Given the description of an element on the screen output the (x, y) to click on. 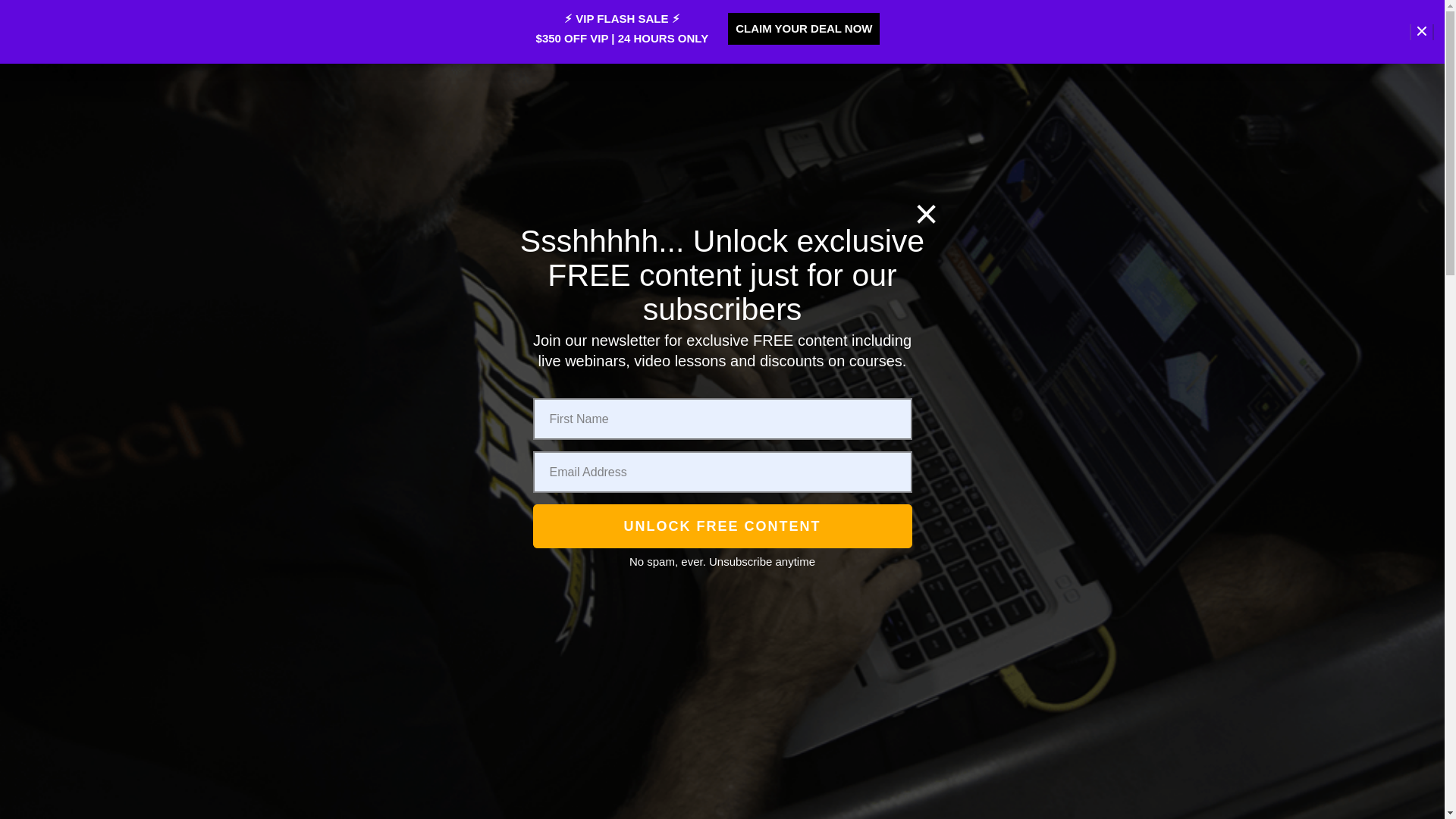
Click here to view Zorro (354, 703)
FORUM (963, 162)
MEMBER LOGIN (527, 162)
ARTICLES (1110, 163)
WEBINARS (889, 81)
ABOUT US (893, 162)
STARTER PACKAGES (746, 81)
Click here to view Zorro (647, 162)
HIGH PERFORMANCE ACADEMY (355, 771)
FREE LESSONS (359, 156)
MEMBER LOGIN (785, 162)
CONTACT US (1108, 81)
BLOG (980, 81)
COURSES (818, 81)
